Given the description of an element on the screen output the (x, y) to click on. 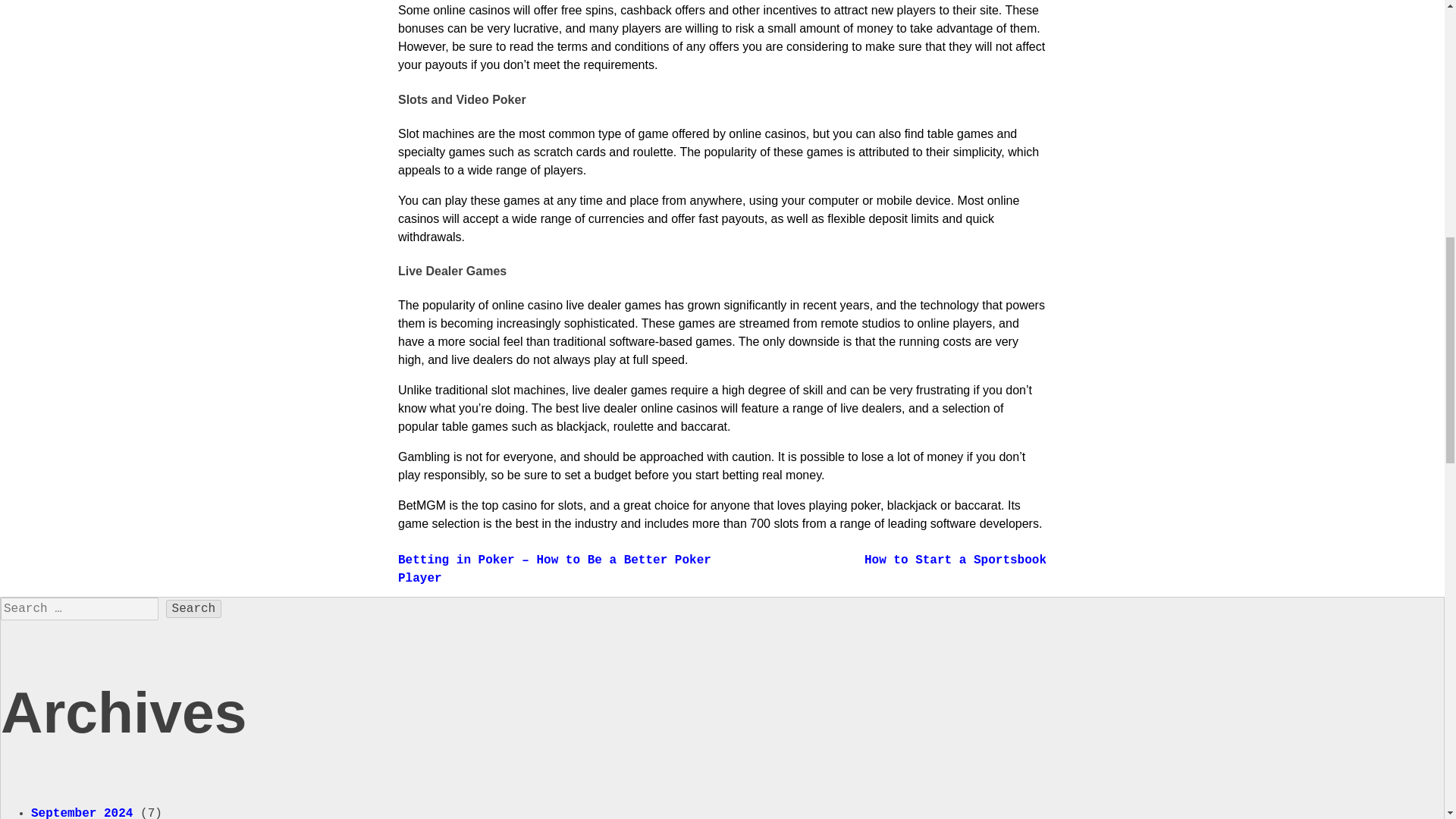
How to Start a Sportsbook (955, 560)
Search (193, 608)
Search (193, 608)
September 2024 (81, 812)
Search (193, 608)
